Given the description of an element on the screen output the (x, y) to click on. 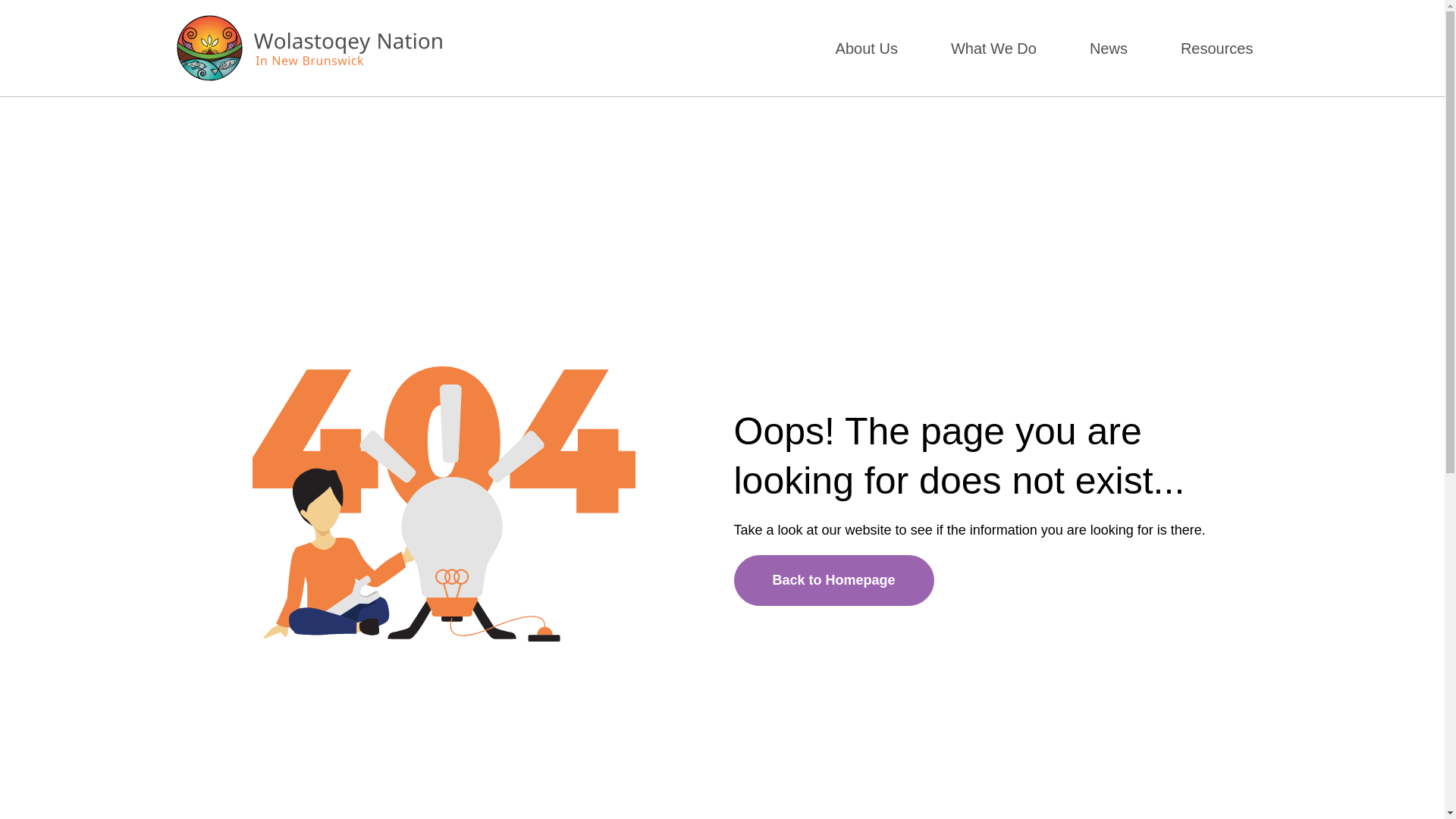
News (1108, 48)
Homepage Link (308, 48)
Resources (1217, 48)
What We Do (993, 48)
About Us (866, 48)
